Given the description of an element on the screen output the (x, y) to click on. 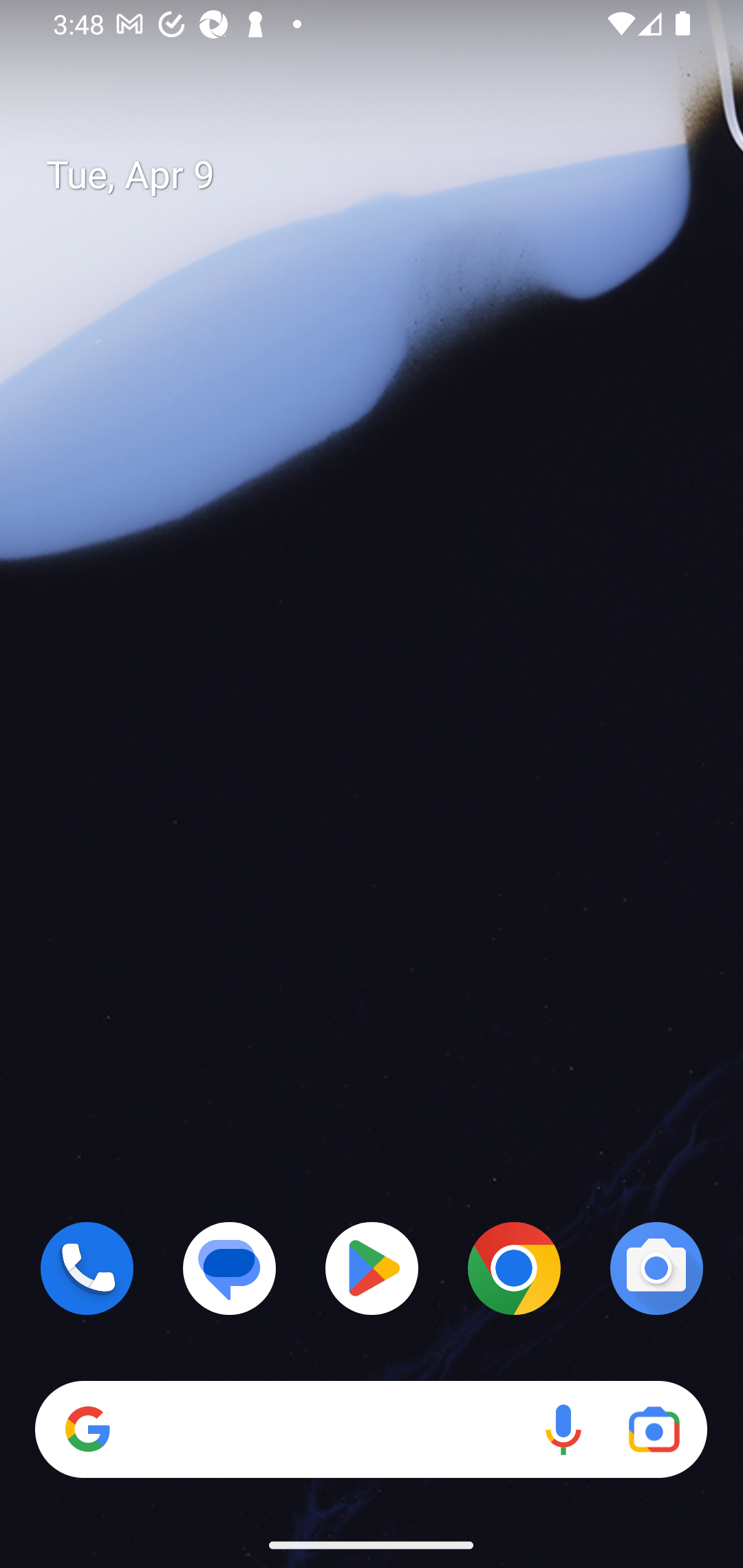
Tue, Apr 9 (386, 175)
Phone (86, 1268)
Messages (229, 1268)
Play Store (371, 1268)
Chrome (513, 1268)
Camera (656, 1268)
Search Voice search Google Lens (370, 1429)
Voice search (562, 1429)
Google Lens (653, 1429)
